Given the description of an element on the screen output the (x, y) to click on. 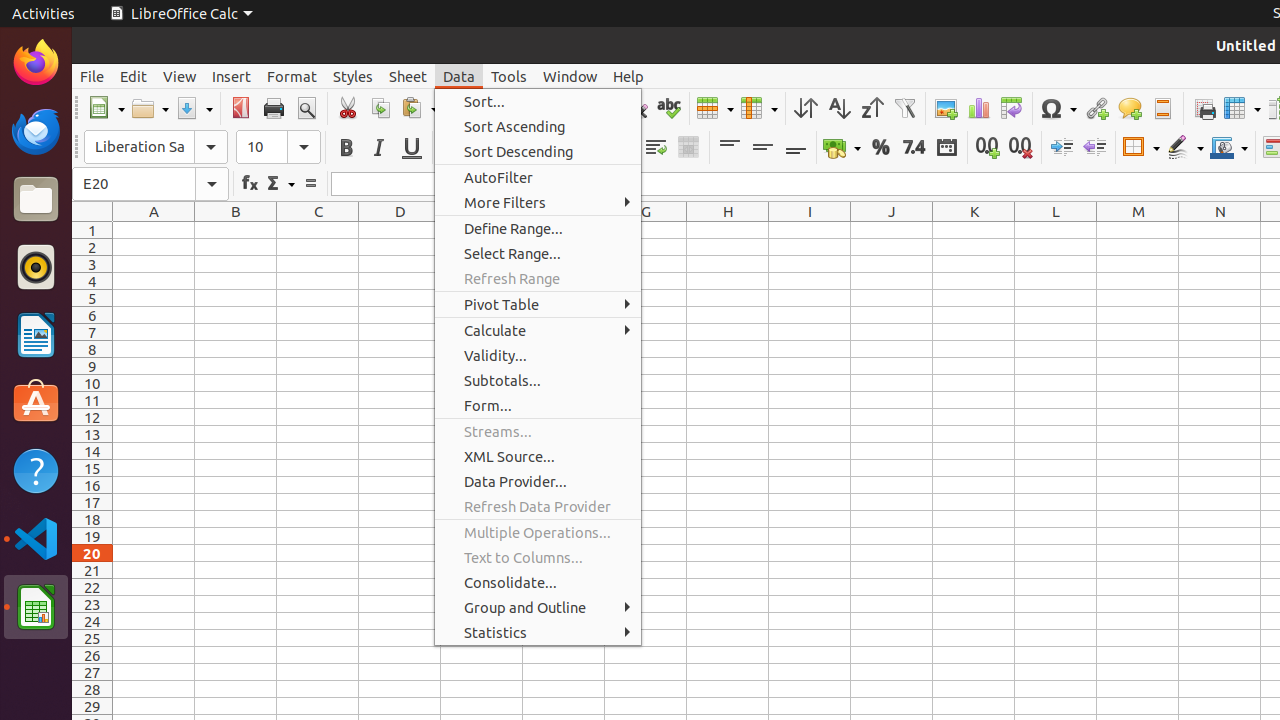
Currency Element type: push-button (842, 147)
Data Element type: menu (459, 76)
Print Area Element type: push-button (1203, 108)
Increase Element type: push-button (1061, 147)
Insert Element type: menu (231, 76)
